Given the description of an element on the screen output the (x, y) to click on. 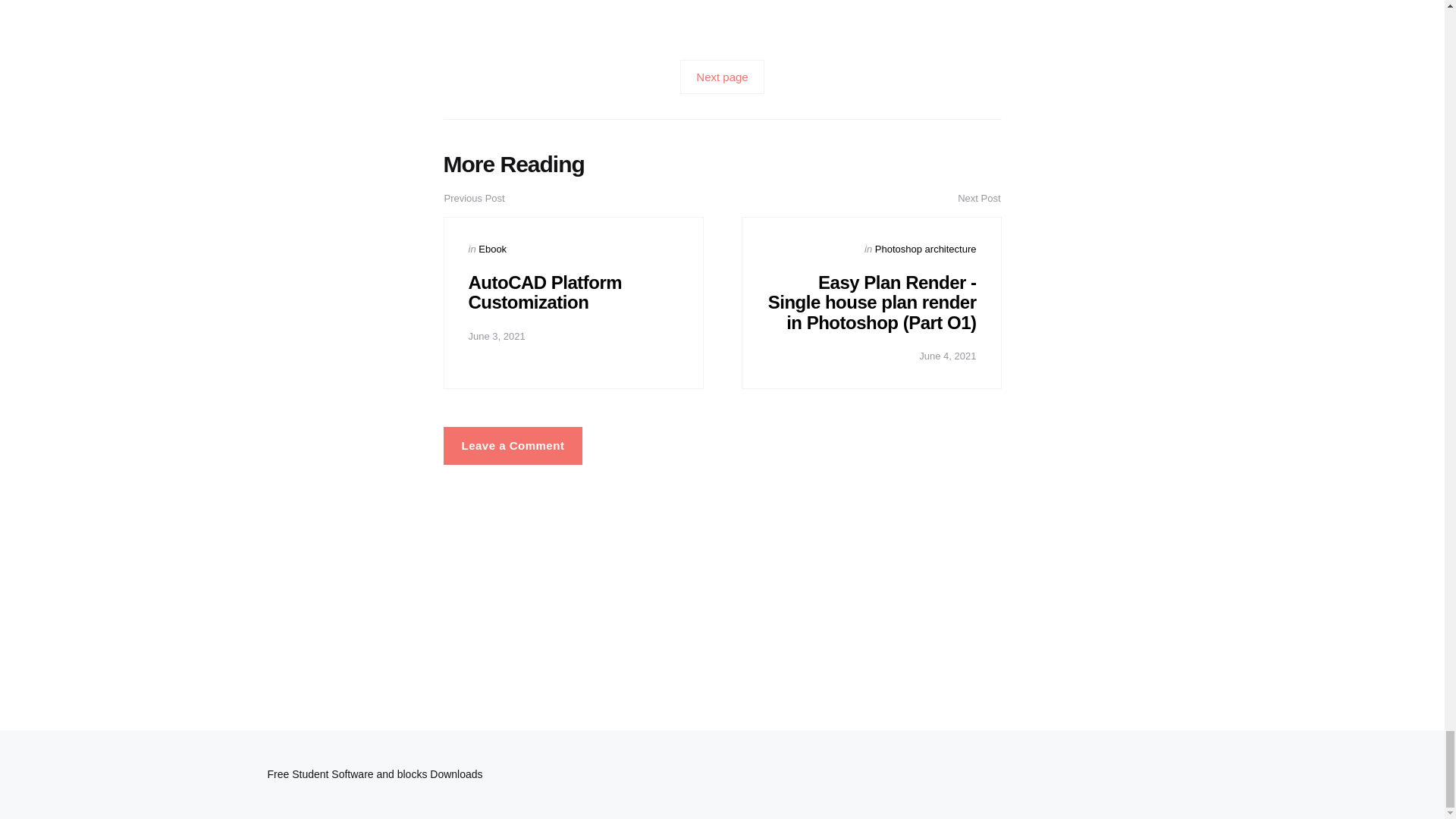
Next page (720, 76)
AutoCAD Platform Customization (545, 291)
Ebook (492, 248)
Photoshop architecture (925, 248)
